Given the description of an element on the screen output the (x, y) to click on. 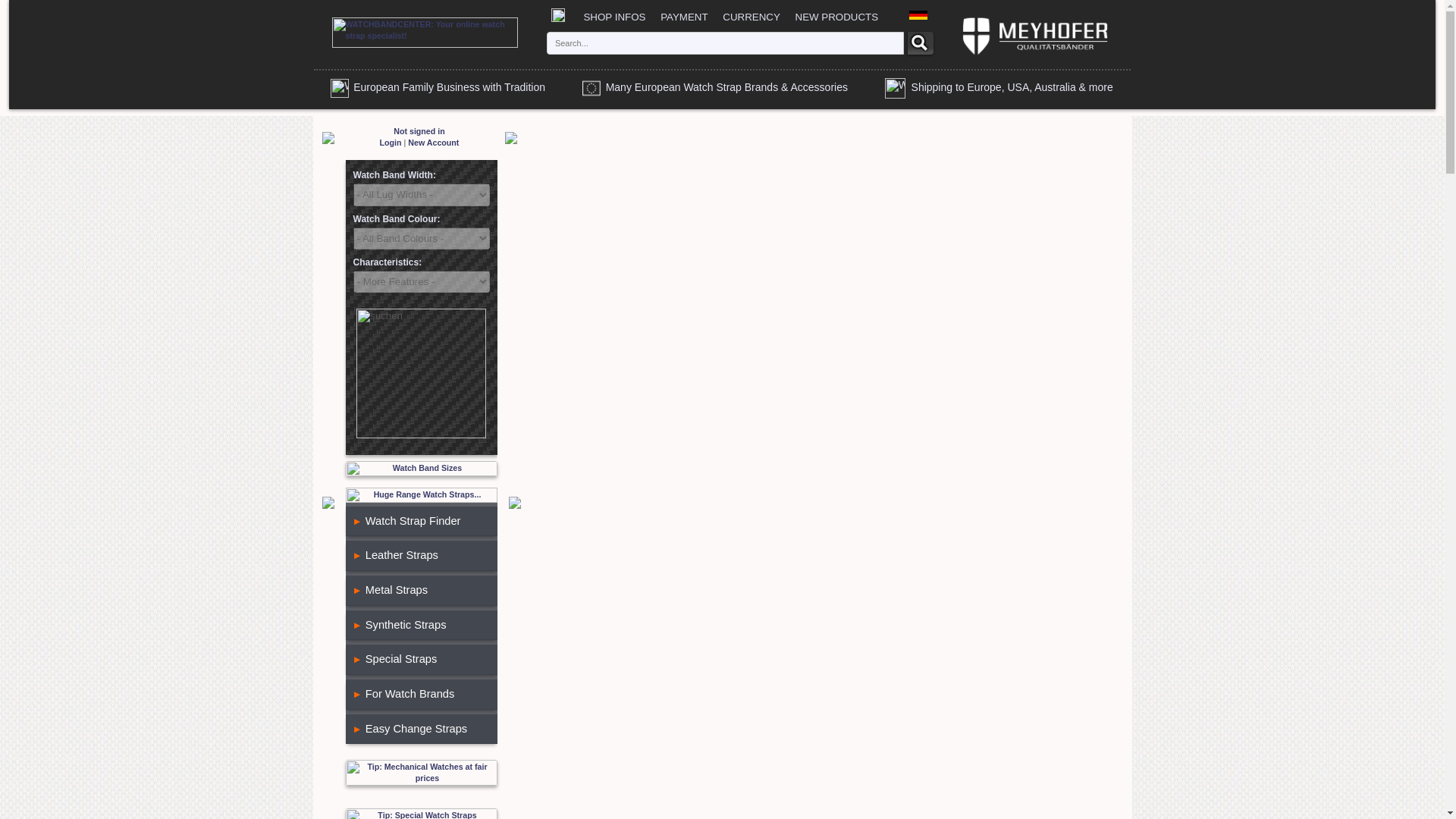
suchen (421, 373)
Watch Band Sizes (421, 468)
To Home of WATCHBANDCENTER.COM (557, 16)
Our Watchs Strap Brands... (714, 87)
CURRENCY (751, 16)
All Metal Watch Straps... (390, 589)
All Leather Watch Straps... (395, 554)
Watch Strap Quality from MEYHOFER (1034, 55)
Payment, Shipping and Delivery Info... (684, 16)
Zum deutschen Uhrenarmband-Shop (917, 17)
